Given the description of an element on the screen output the (x, y) to click on. 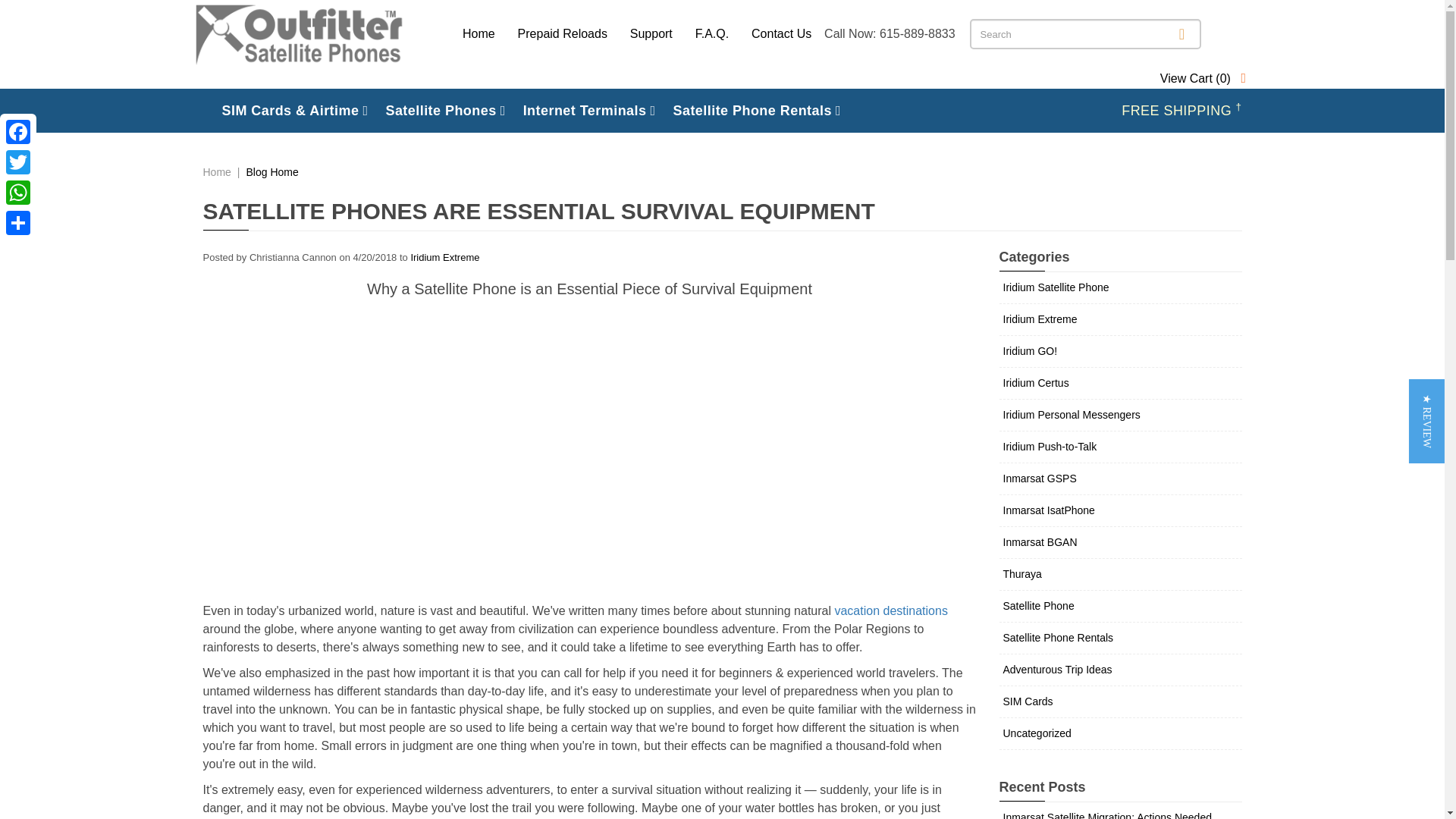
Home (484, 33)
Contact Us (781, 33)
F.A.Q. (711, 33)
Prepaid Reloads (562, 33)
Support (651, 33)
